Given the description of an element on the screen output the (x, y) to click on. 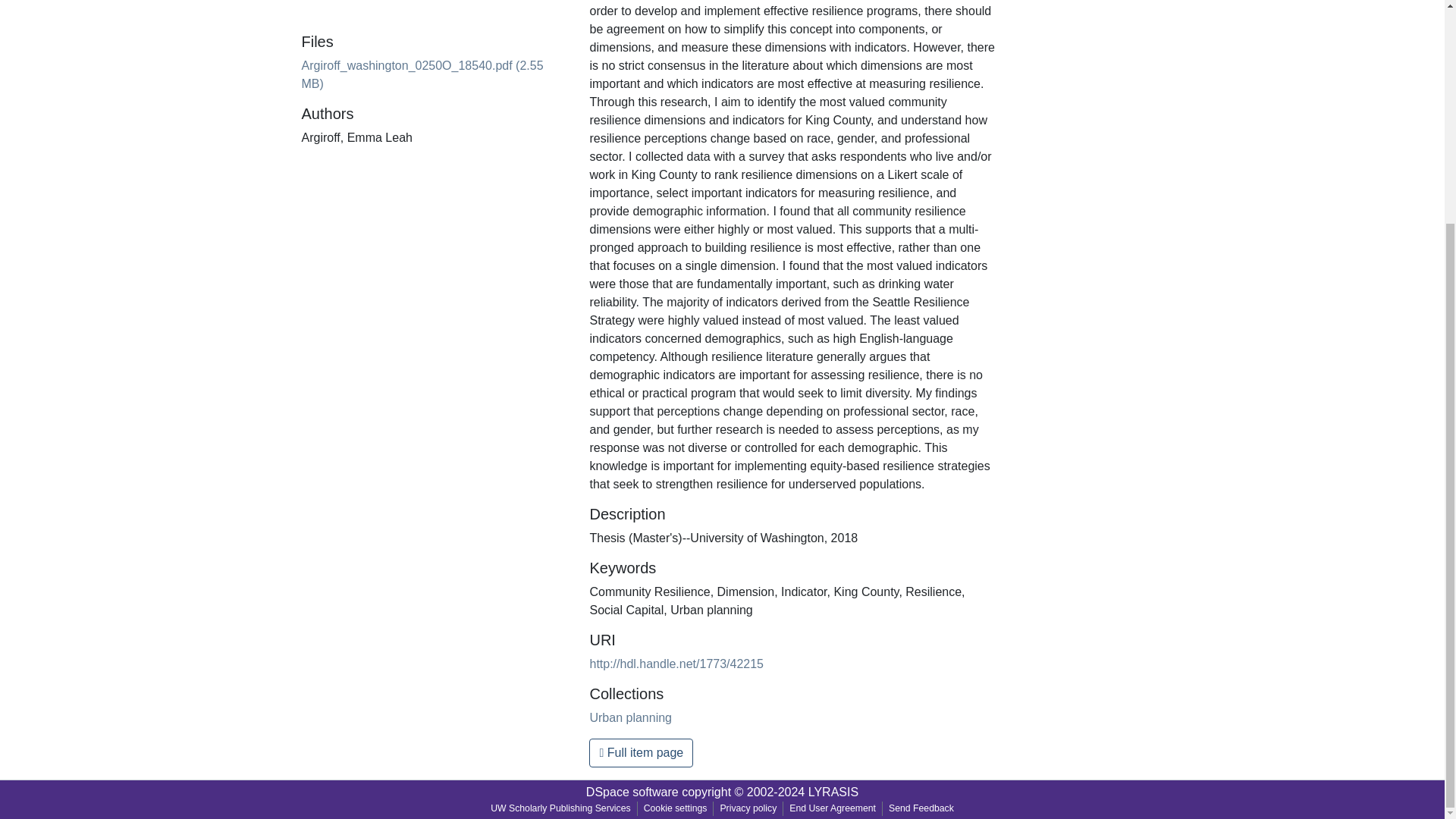
UW Scholarly Publishing Services (560, 807)
Send Feedback (920, 807)
Full item page (641, 752)
Urban planning (630, 717)
Privacy policy (748, 807)
End User Agreement (832, 807)
LYRASIS (833, 791)
DSpace software (632, 791)
Cookie settings (675, 807)
